Given the description of an element on the screen output the (x, y) to click on. 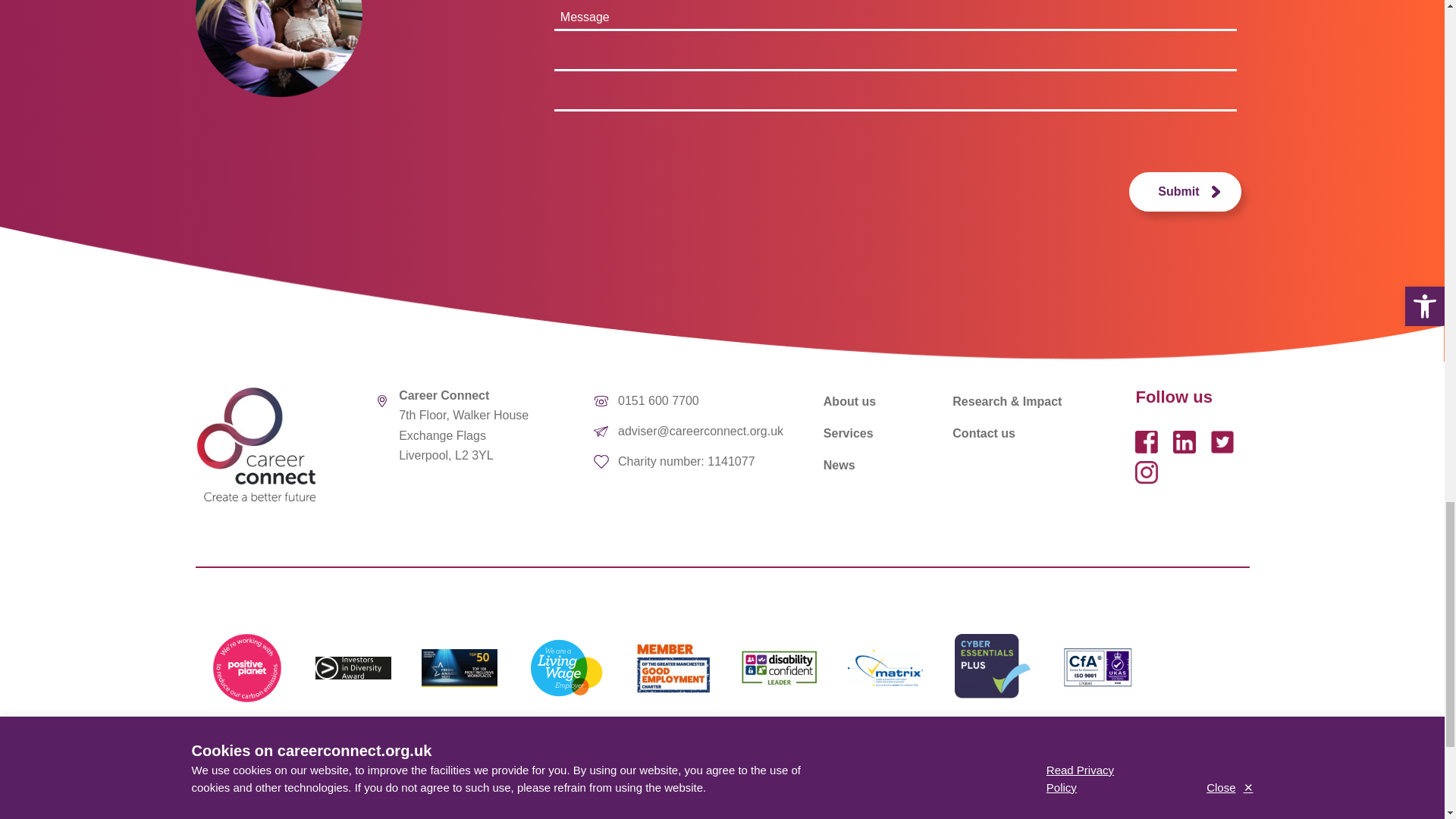
Submit (1185, 191)
